Given the description of an element on the screen output the (x, y) to click on. 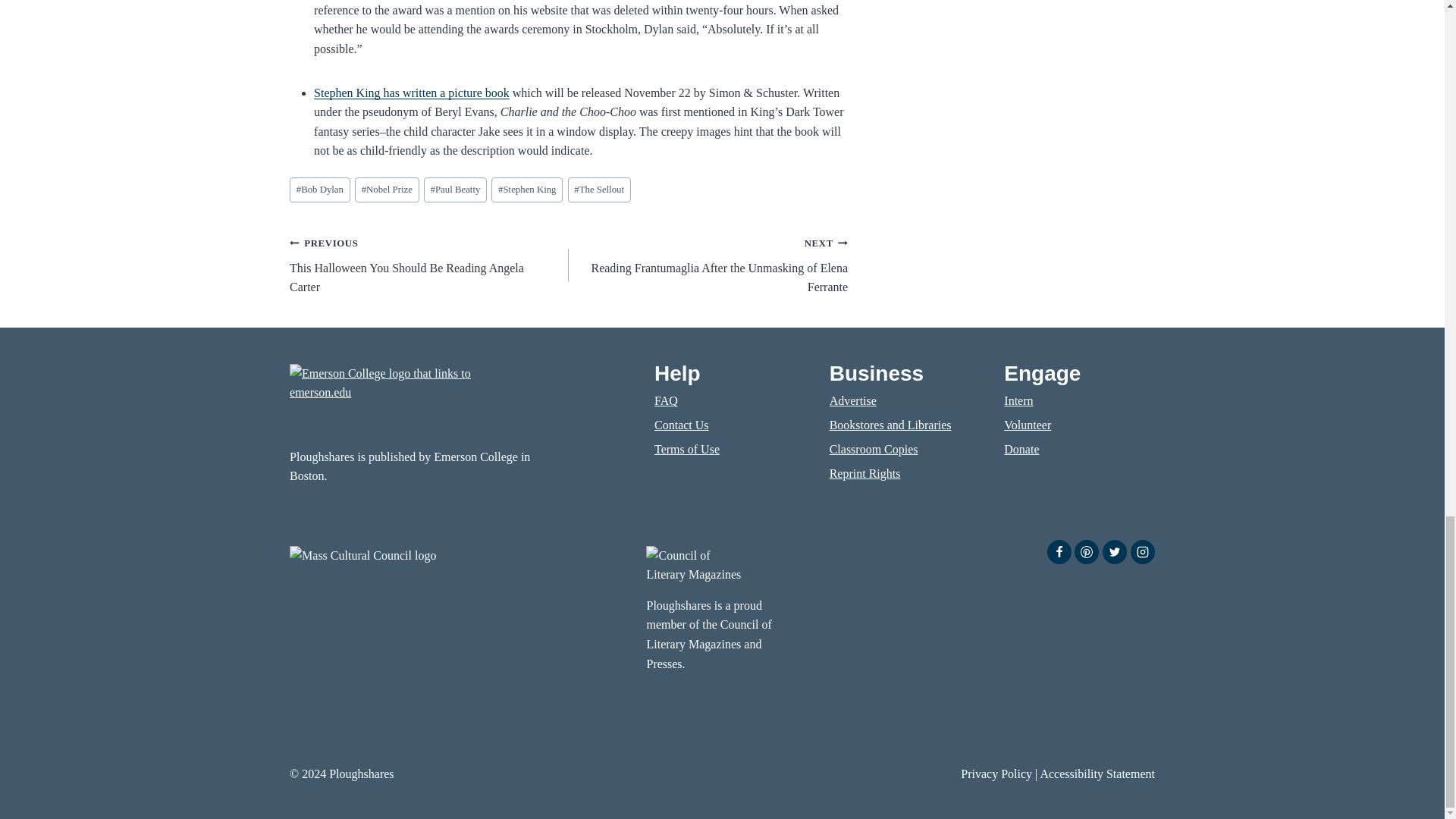
The Sellout (598, 189)
Bob Dylan (319, 189)
Nobel Prize (387, 189)
Stephen King (527, 189)
Paul Beatty (454, 189)
